Given the description of an element on the screen output the (x, y) to click on. 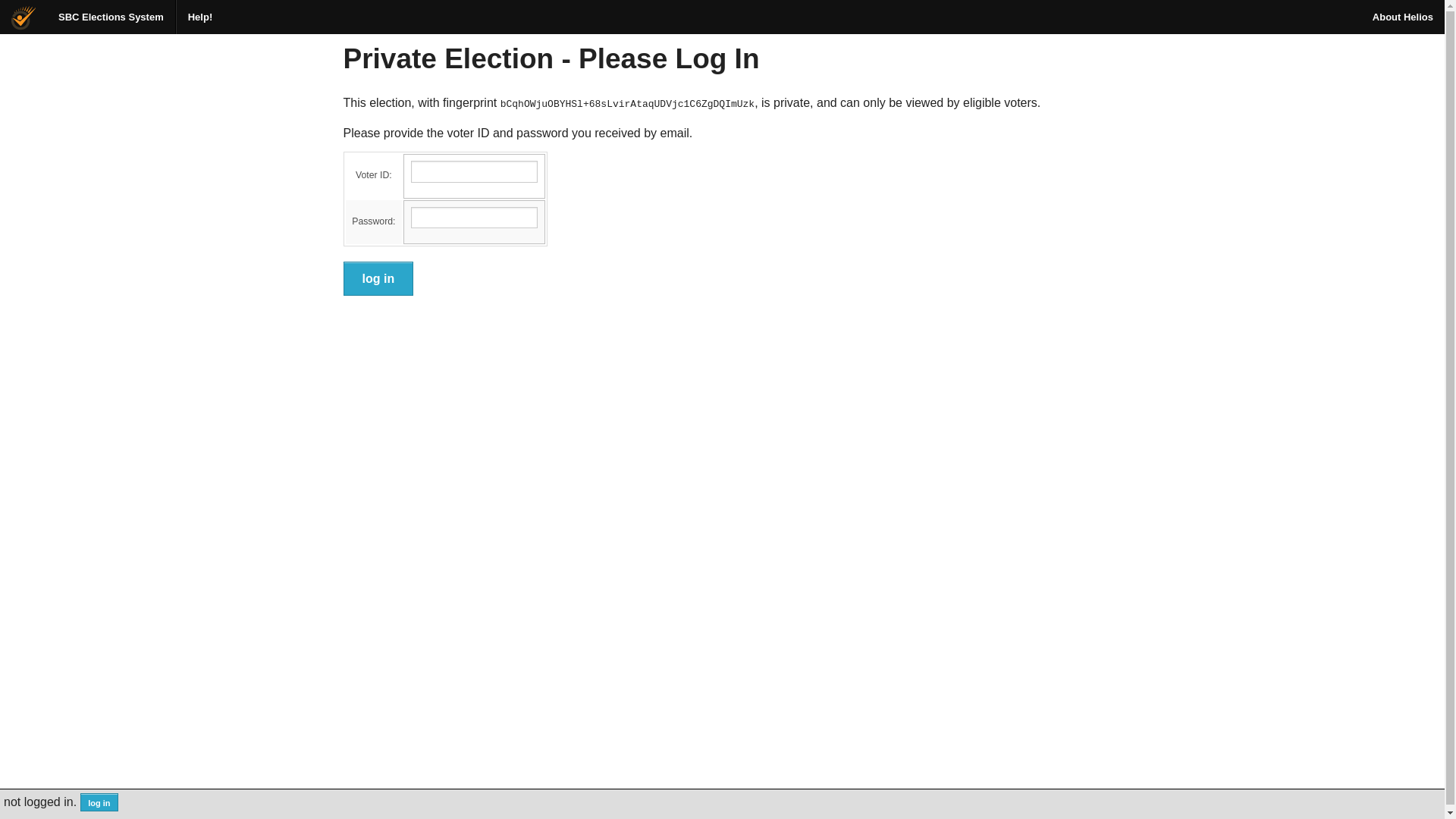
SBC Elections System Element type: text (111, 17)
log in Element type: text (99, 802)
Help! Element type: text (200, 17)
log in Element type: text (377, 278)
About Helios Element type: text (1402, 17)
